Given the description of an element on the screen output the (x, y) to click on. 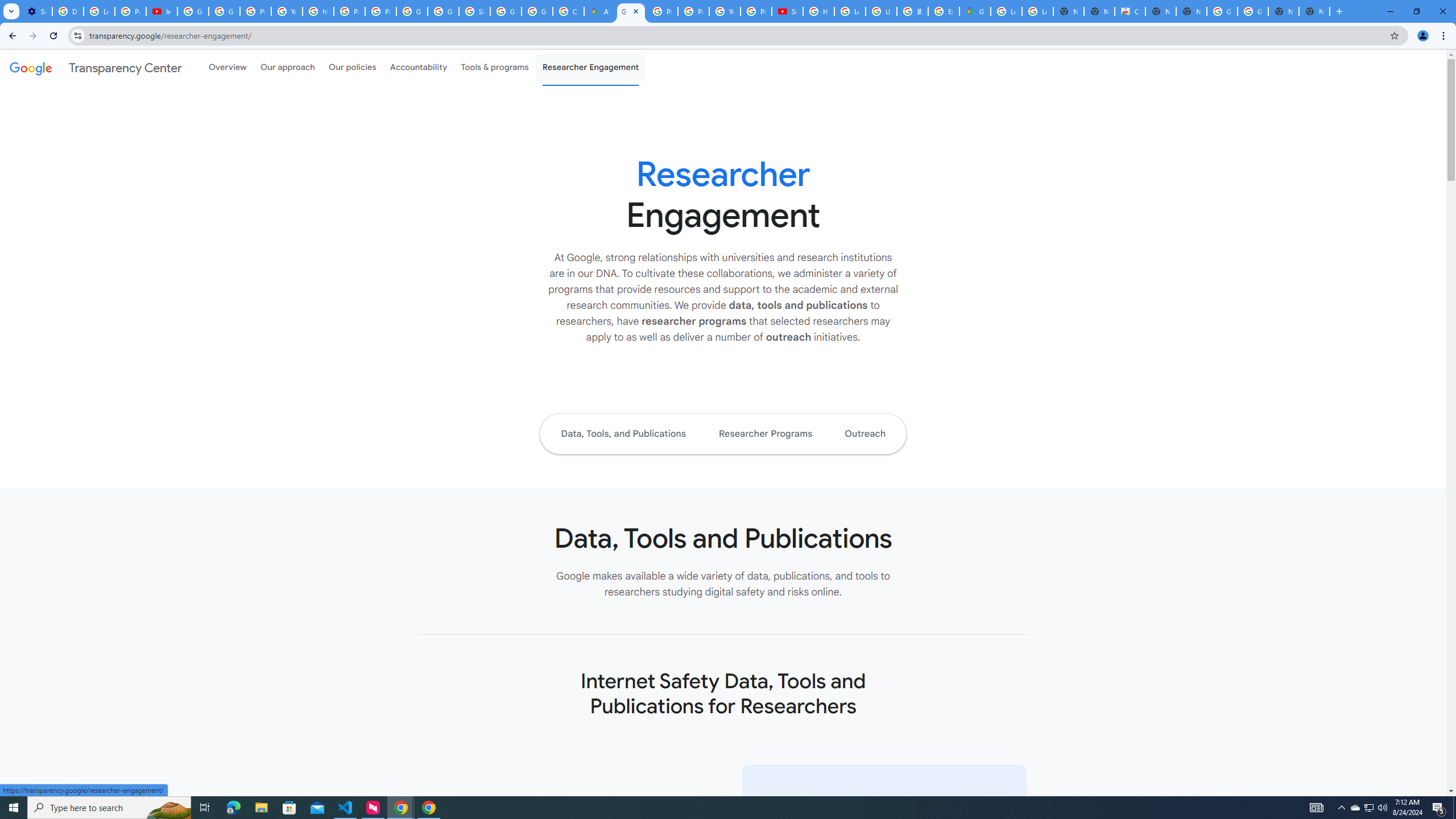
Privacy Help Center - Policies Help (693, 11)
Sign in - Google Accounts (474, 11)
Our policies (351, 67)
Introduction | Google Privacy Policy - YouTube (161, 11)
https://scholar.google.com/ (318, 11)
Explore new street-level details - Google Maps Help (943, 11)
Tools & programs (494, 67)
Create your Google Account (568, 11)
Chrome Web Store (1129, 11)
YouTube (724, 11)
